Given the description of an element on the screen output the (x, y) to click on. 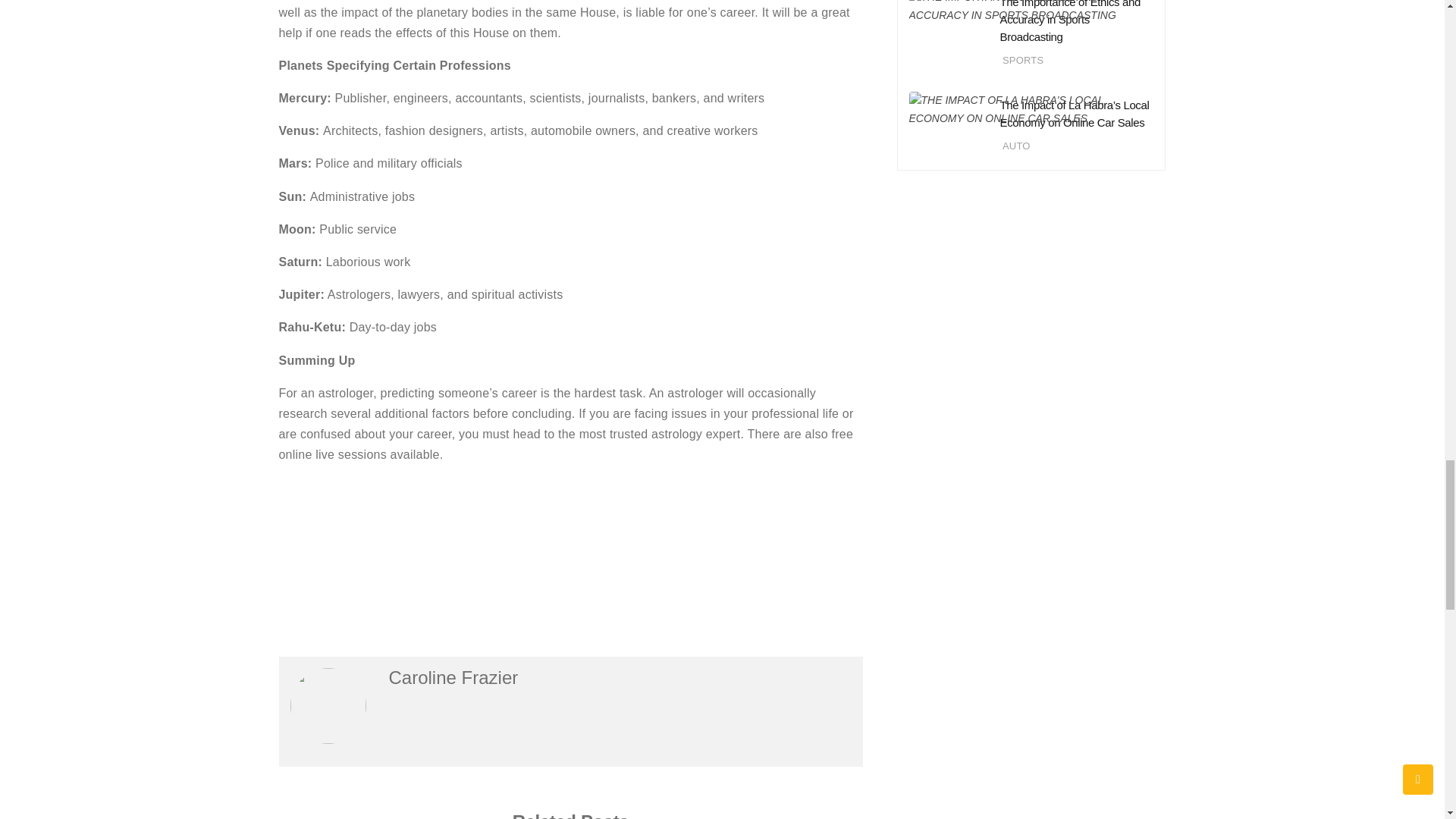
The Importance of Ethics and Accuracy in Sports Broadcasting (1069, 21)
